Given the description of an element on the screen output the (x, y) to click on. 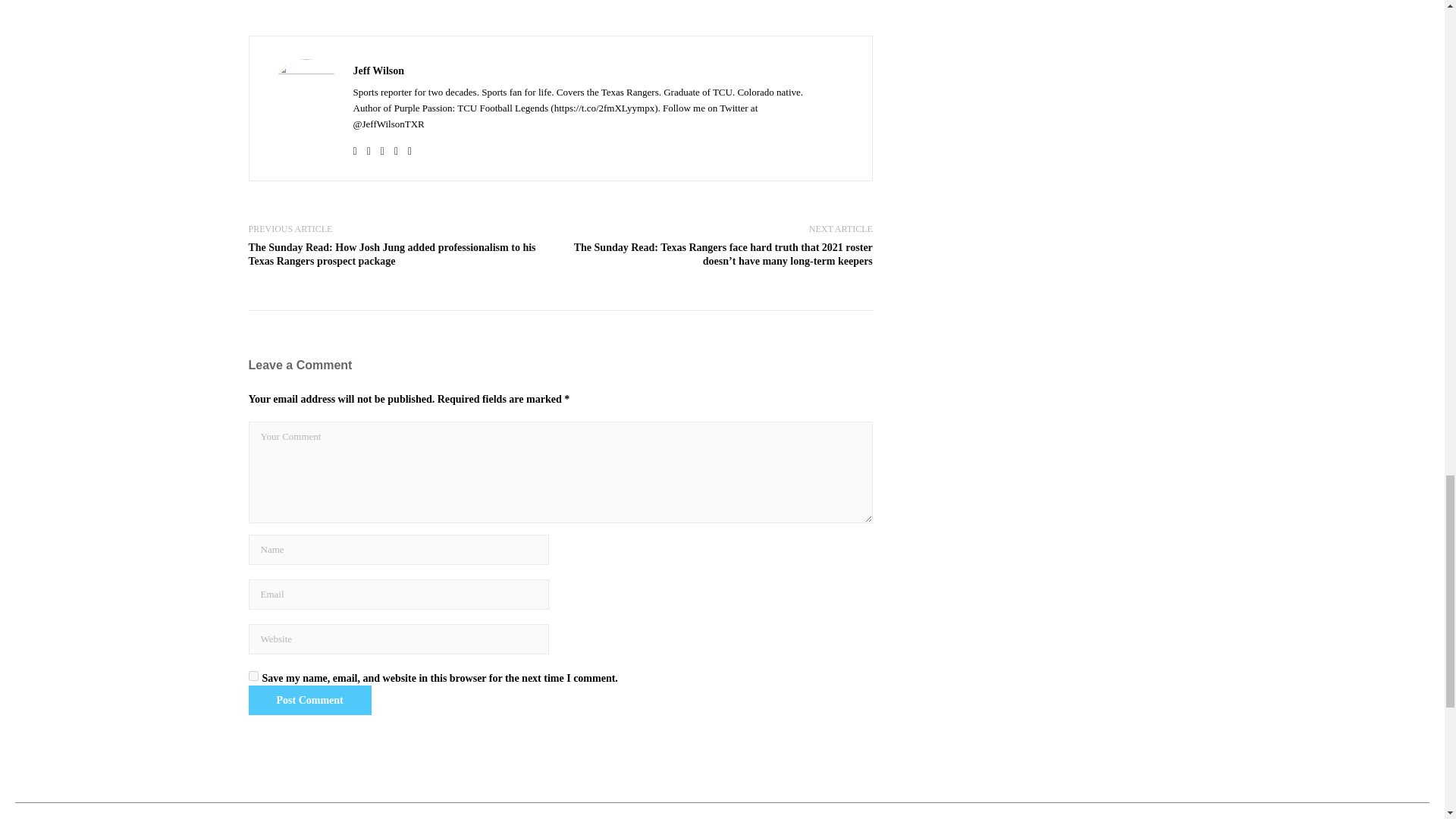
yes (253, 675)
Post Comment (309, 700)
